Given the description of an element on the screen output the (x, y) to click on. 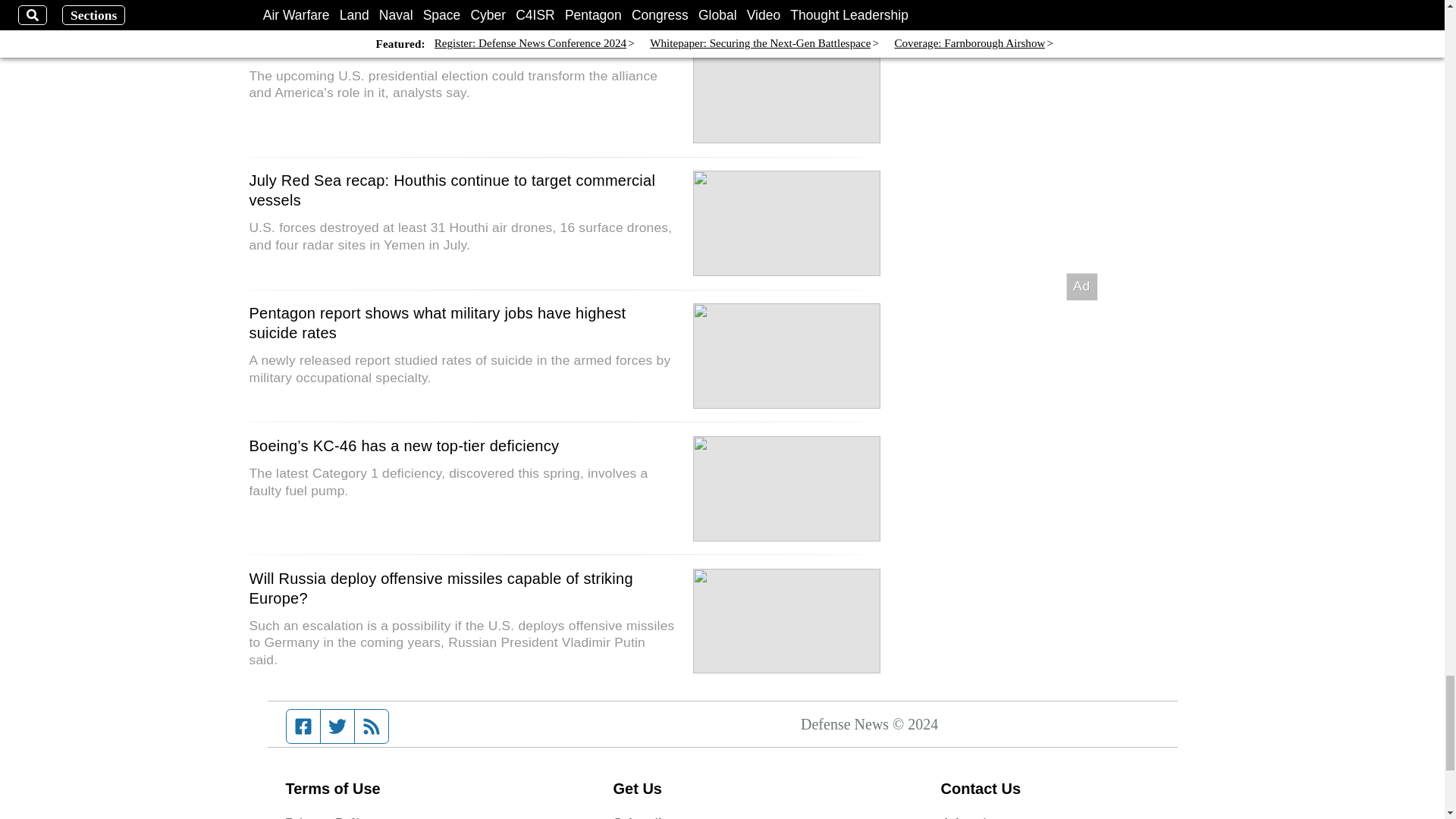
RSS feed (371, 726)
Twitter feed (336, 726)
Facebook page (303, 726)
